Given the description of an element on the screen output the (x, y) to click on. 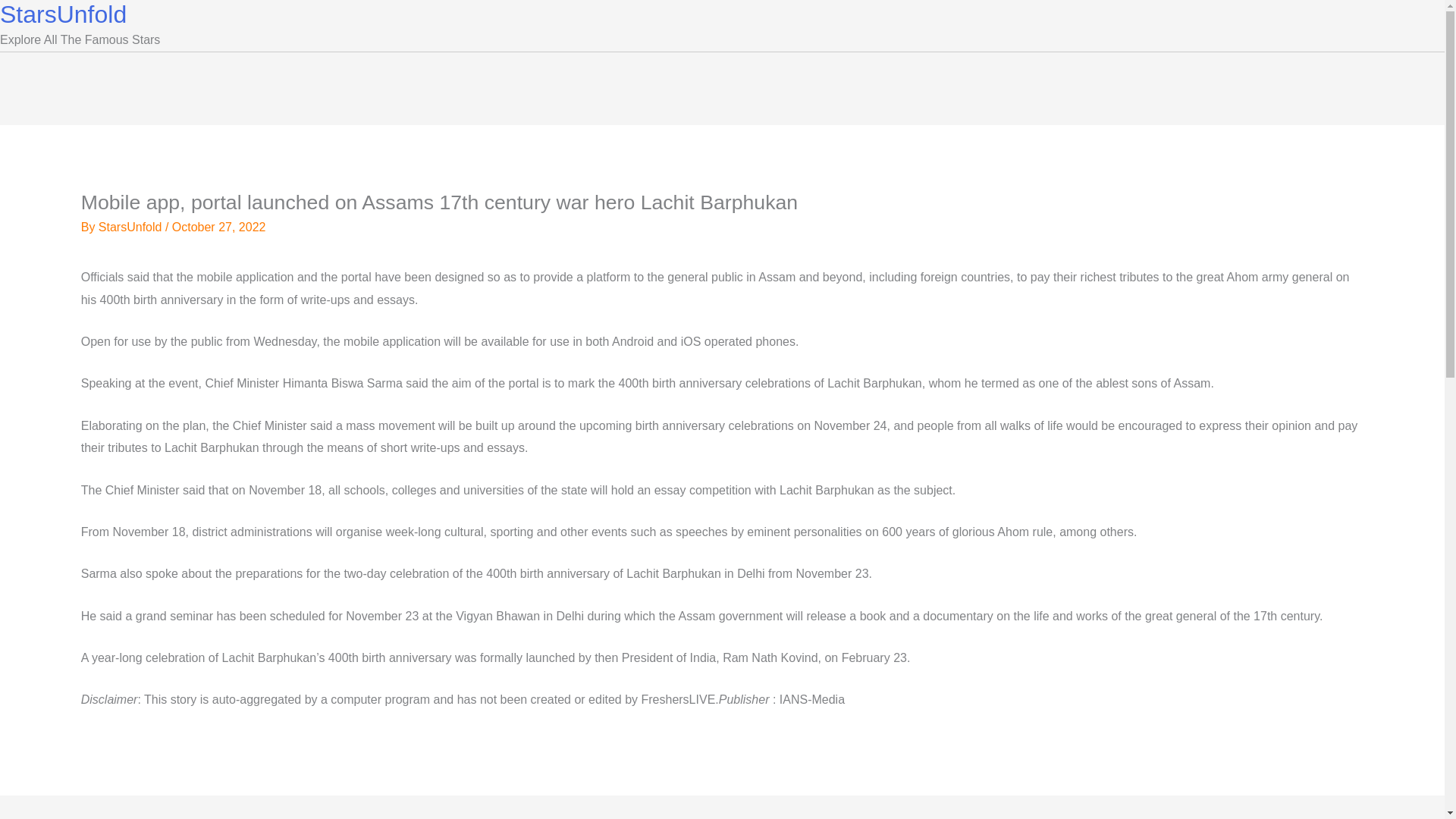
StarsUnfold (132, 226)
StarsUnfold (63, 13)
View all posts by StarsUnfold (132, 226)
